Given the description of an element on the screen output the (x, y) to click on. 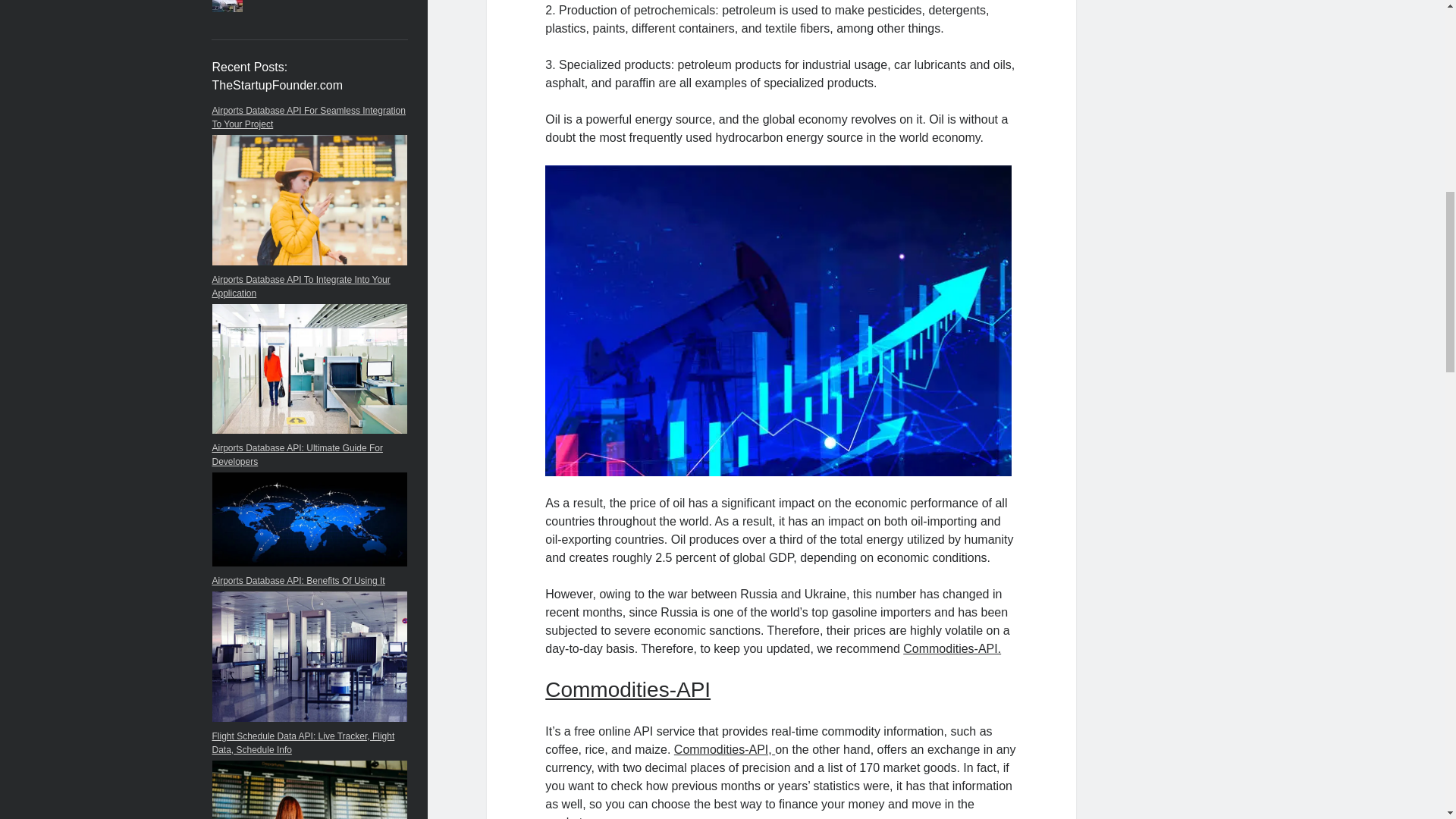
Airports Database API To Integrate Into Your Application (301, 286)
Airports Database API: Benefits Of Using It (298, 580)
Airports Database API: Ultimate Guide For Developers (297, 454)
